Given the description of an element on the screen output the (x, y) to click on. 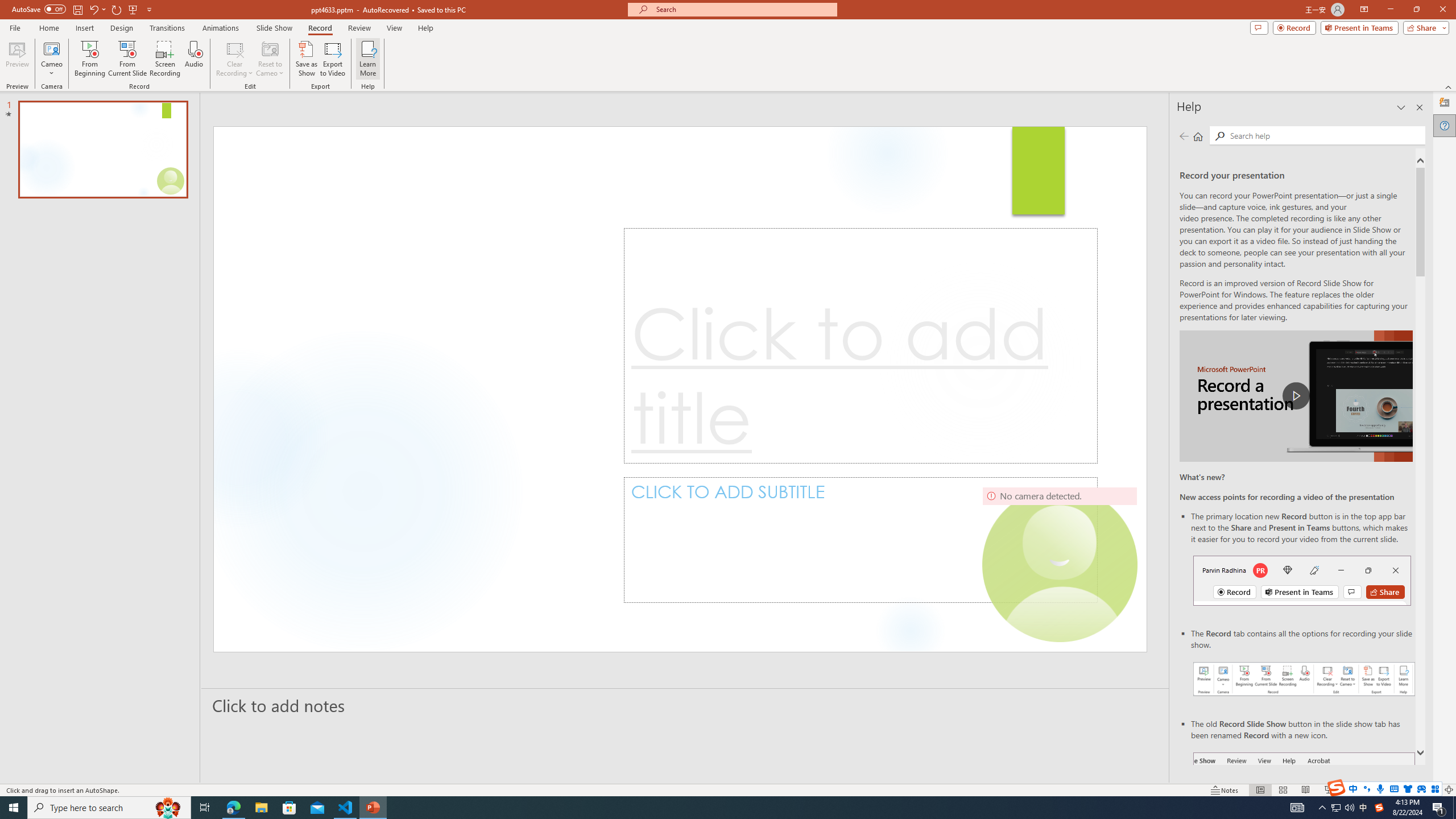
Present in Teams (1359, 27)
Home (48, 28)
Designer (1444, 102)
Save (77, 9)
View (395, 28)
Slide Sorter (1282, 790)
Previous page (1183, 136)
Zoom (1379, 790)
Record your presentations screenshot one (1304, 678)
Restore Down (1416, 9)
Zoom to Fit  (1449, 790)
Redo (117, 9)
